Given the description of an element on the screen output the (x, y) to click on. 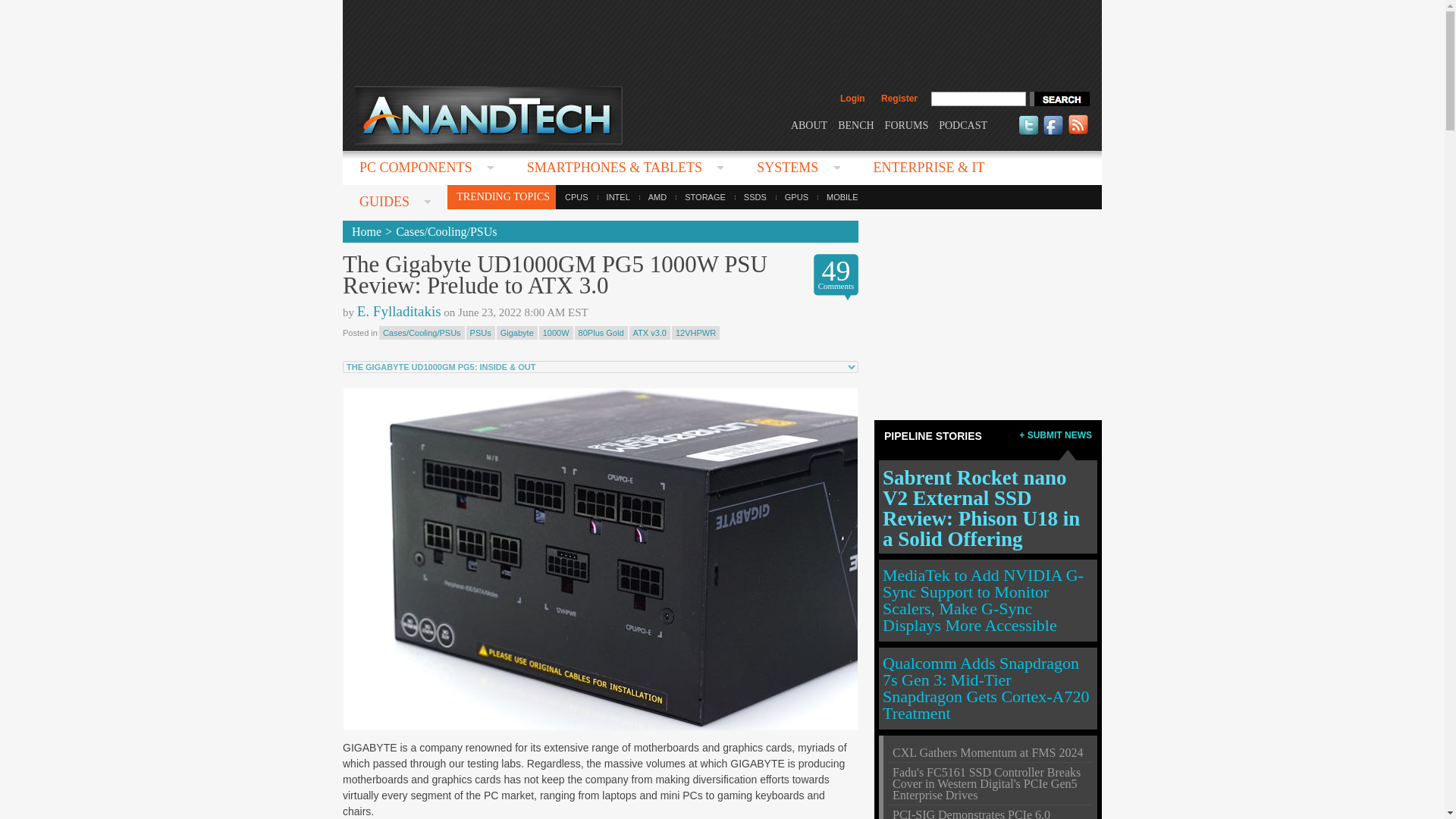
Register (898, 98)
ABOUT (808, 125)
FORUMS (906, 125)
search (1059, 98)
search (1059, 98)
Login (852, 98)
PODCAST (963, 125)
search (1059, 98)
BENCH (855, 125)
